Given the description of an element on the screen output the (x, y) to click on. 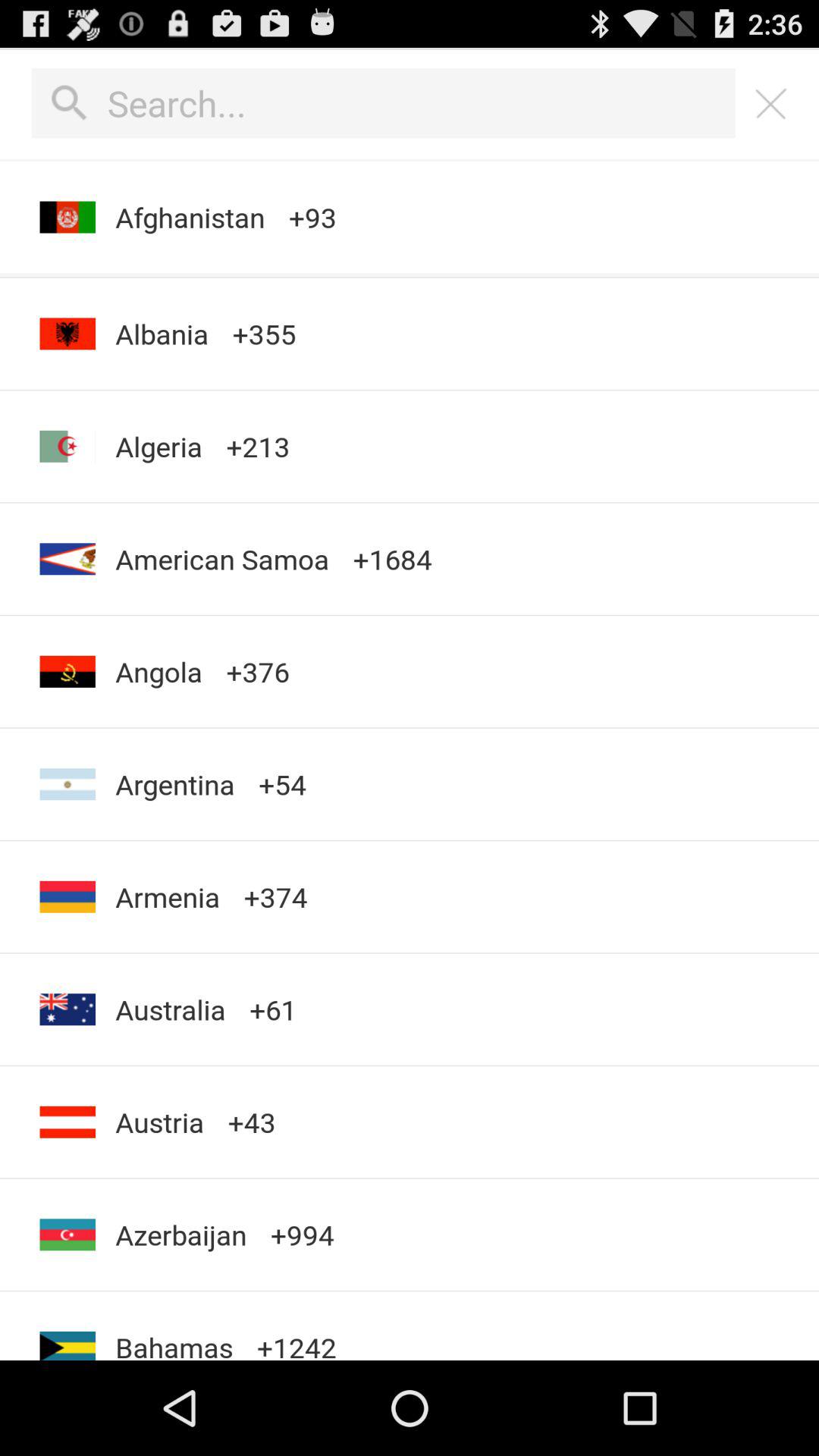
turn on the app next to the +1242 app (180, 1234)
